Given the description of an element on the screen output the (x, y) to click on. 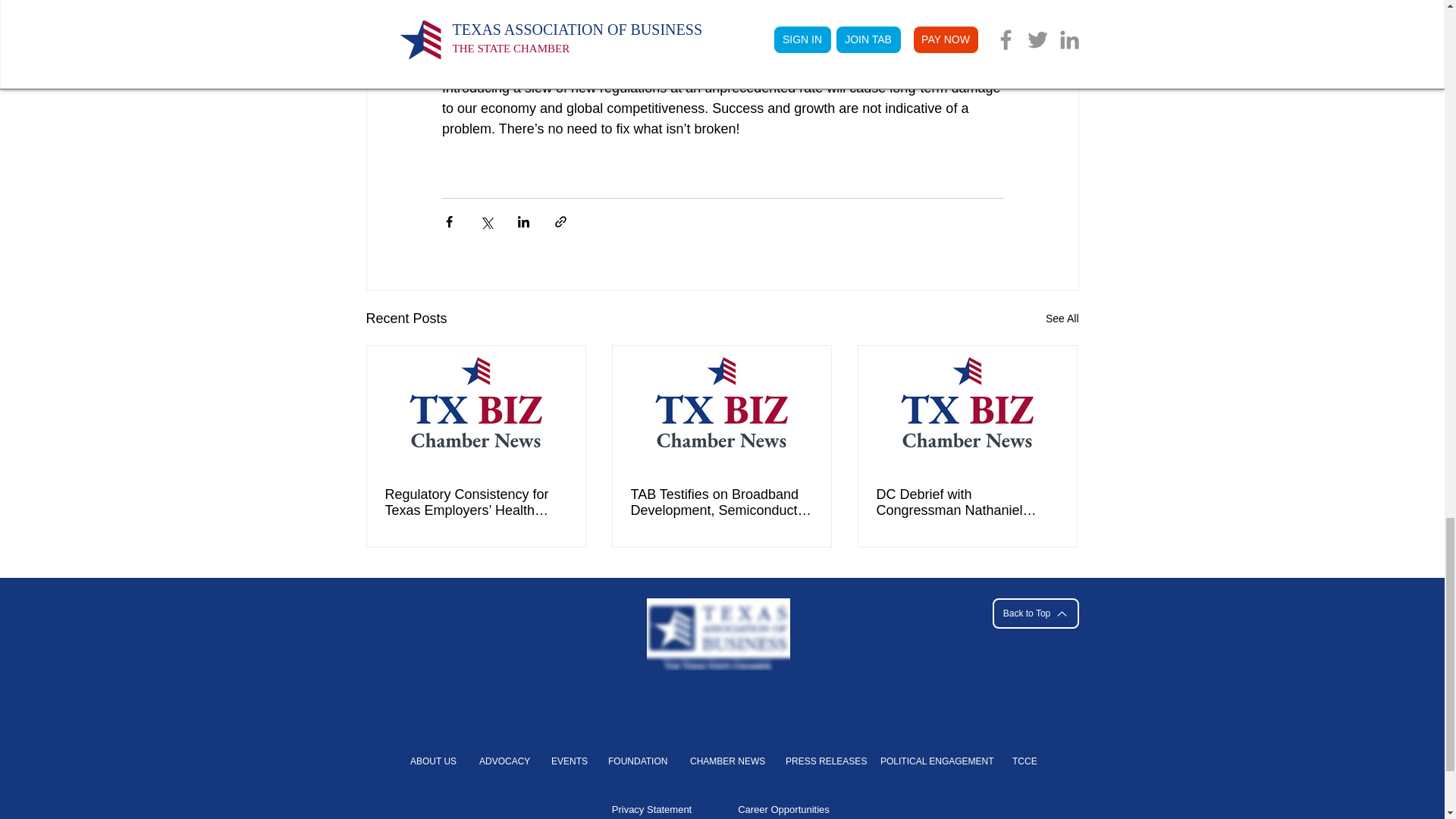
DC Debrief with Congressman Nathaniel Moran (967, 502)
ADVOCACY (502, 761)
Back to Top (1034, 613)
See All (1061, 318)
ABOUT US (432, 761)
